Given the description of an element on the screen output the (x, y) to click on. 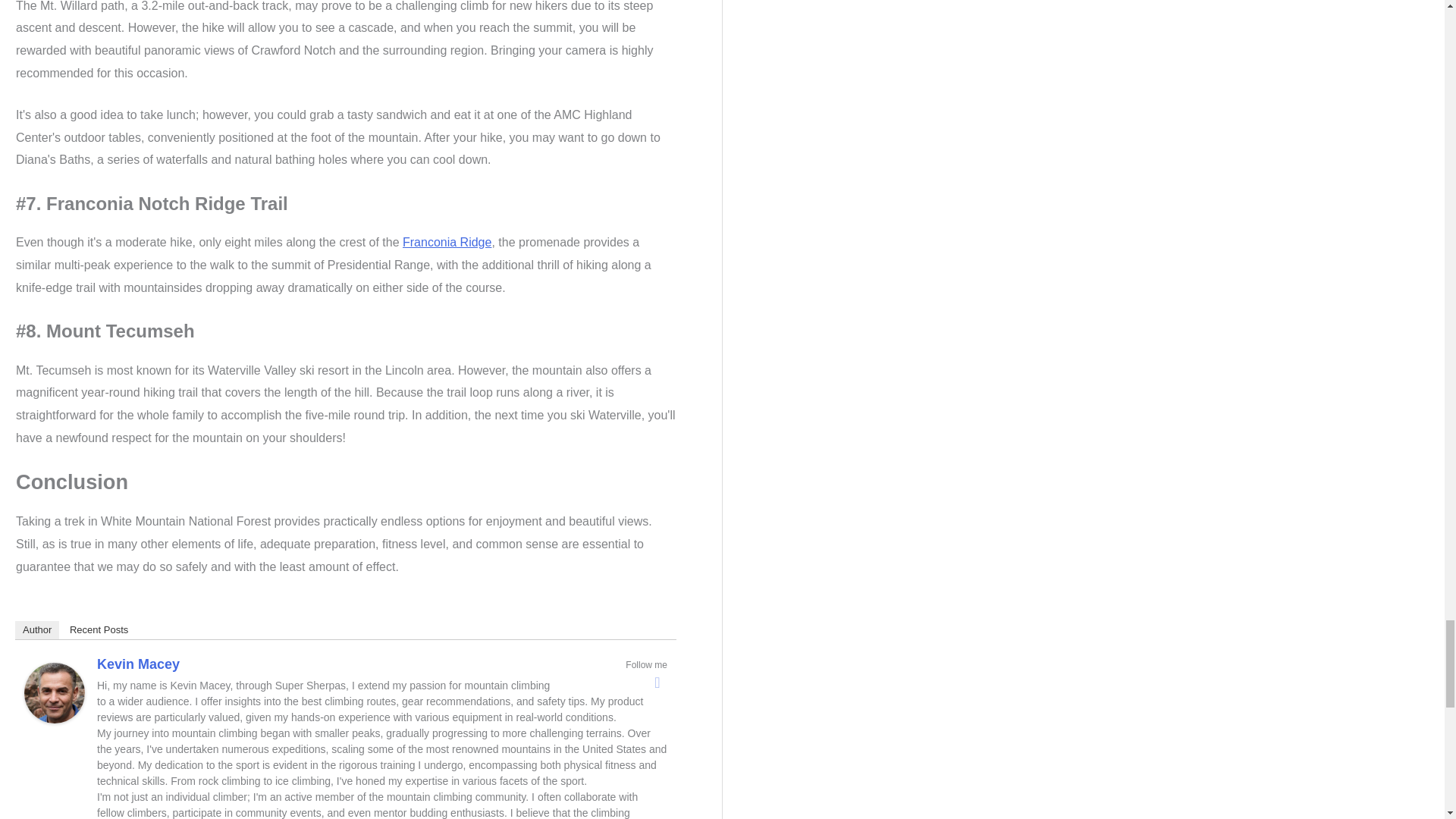
Kevin Macey (138, 663)
Recent Posts (98, 629)
Facebook (656, 682)
Author (36, 629)
Kevin Macey (54, 691)
Franconia Ridge (447, 241)
